Given the description of an element on the screen output the (x, y) to click on. 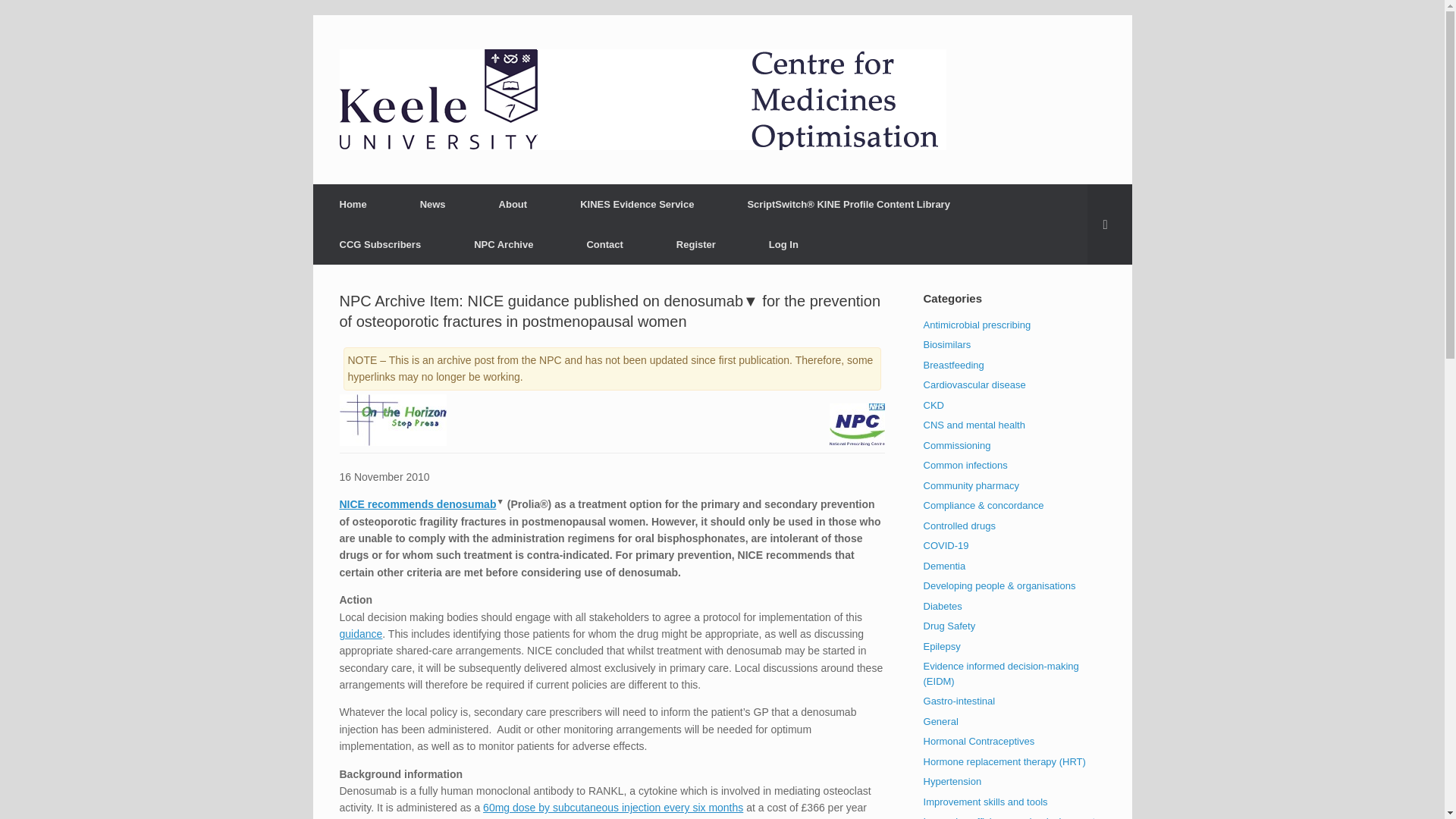
Home (353, 204)
guidance (360, 633)
60mg dose by subcutaneous injection every six months (612, 807)
NPC Archive (502, 244)
NPC Logo (857, 424)
Log In (783, 244)
Centre for Medicines Optimisation (642, 99)
News (432, 204)
CCG Subscribers (379, 244)
Commissioning (957, 445)
